Given the description of an element on the screen output the (x, y) to click on. 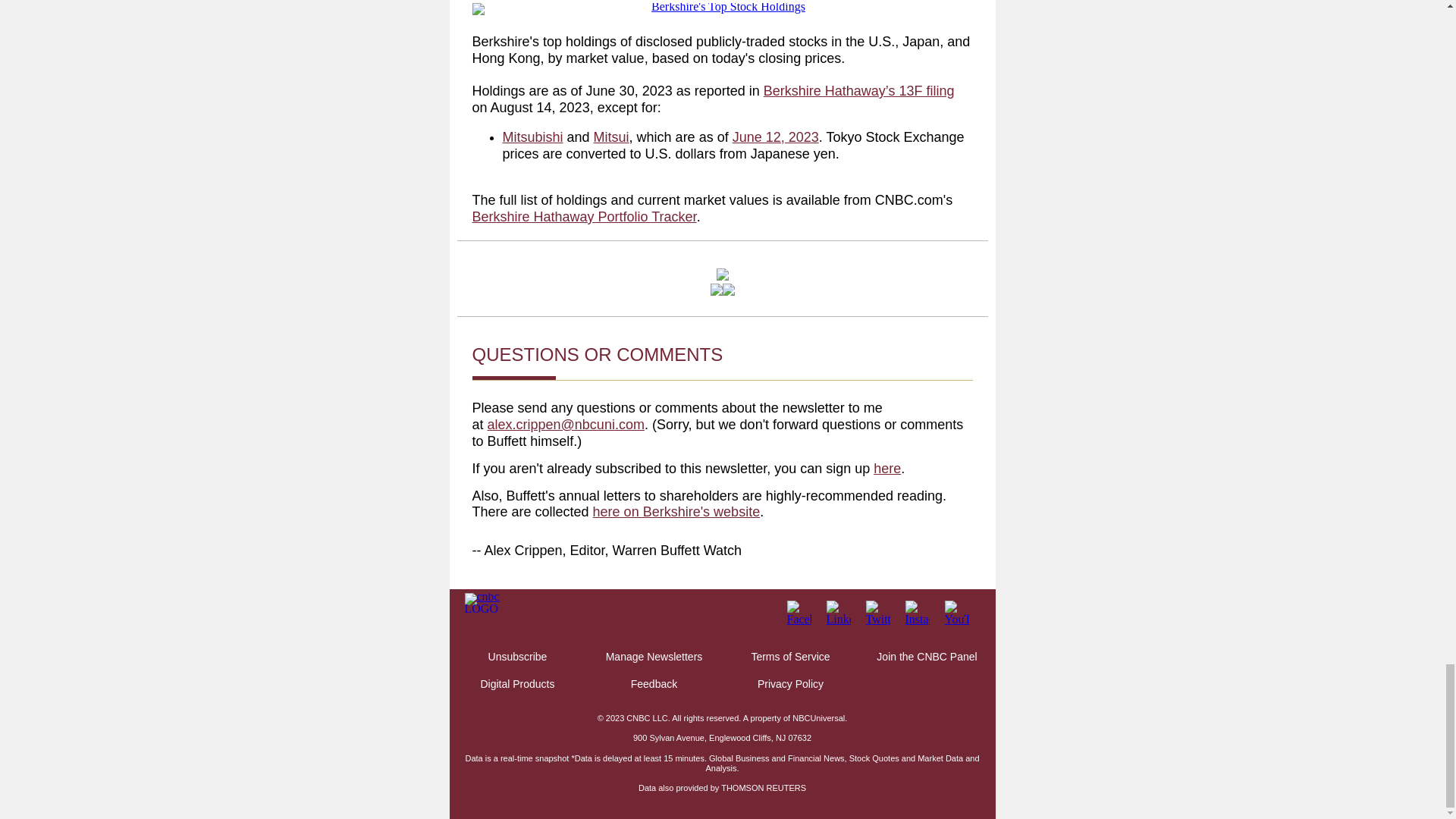
cnbc LOGO (483, 601)
Facebook (798, 611)
Twitter (877, 611)
Berkshire's Top Stock Holdings (721, 9)
LinkedIn (838, 611)
YouTube (956, 611)
Instagram (917, 611)
